Given the description of an element on the screen output the (x, y) to click on. 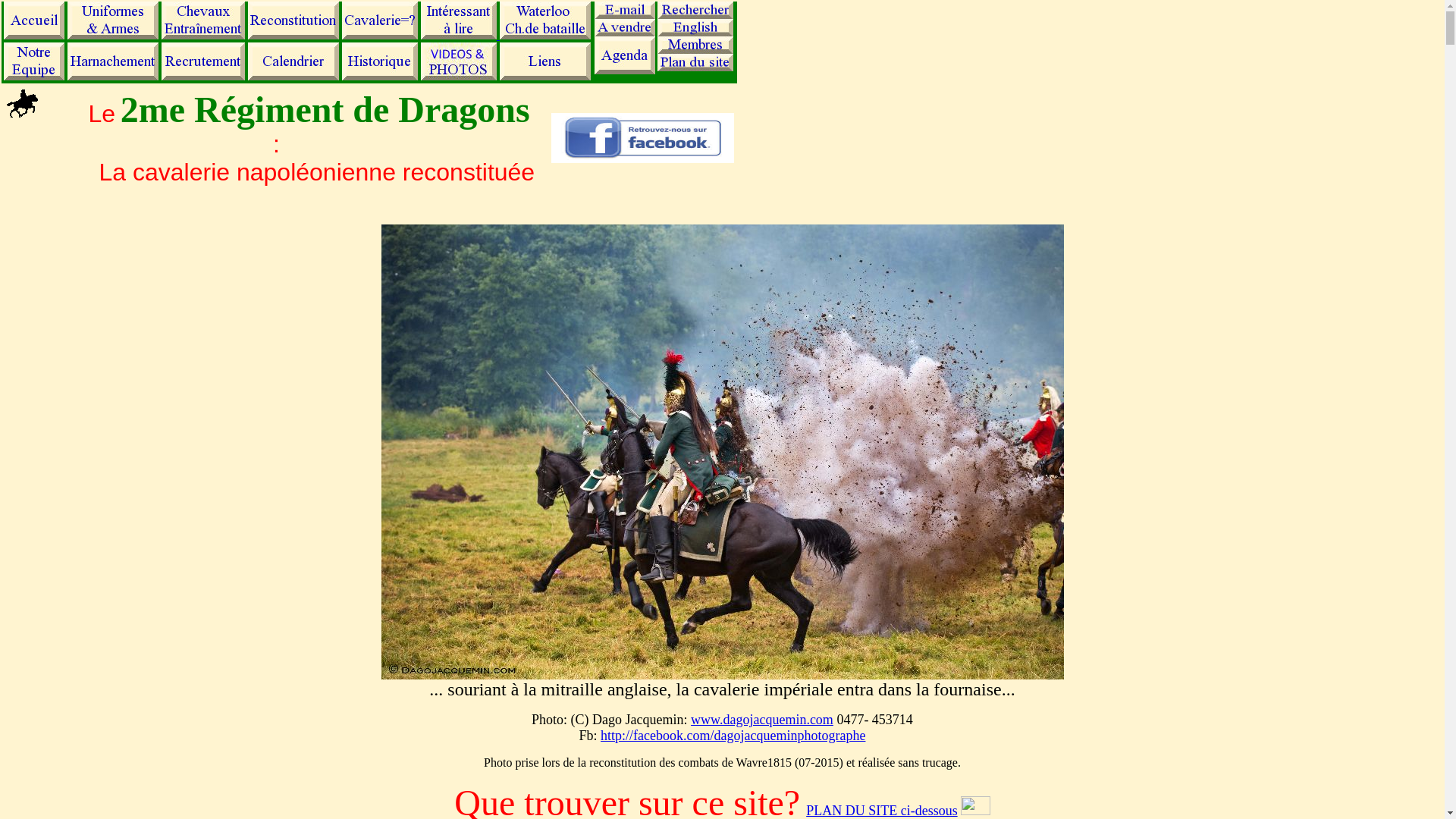
http://facebook.com/dagojacqueminphotographe Element type: text (732, 735)
Internet Audience Element type: hover (975, 805)
www.dagojacquemin.com Element type: text (761, 719)
WebAnalytics Element type: hover (975, 810)
PLAN DU SITE ci-dessous Element type: text (881, 810)
